Given the description of an element on the screen output the (x, y) to click on. 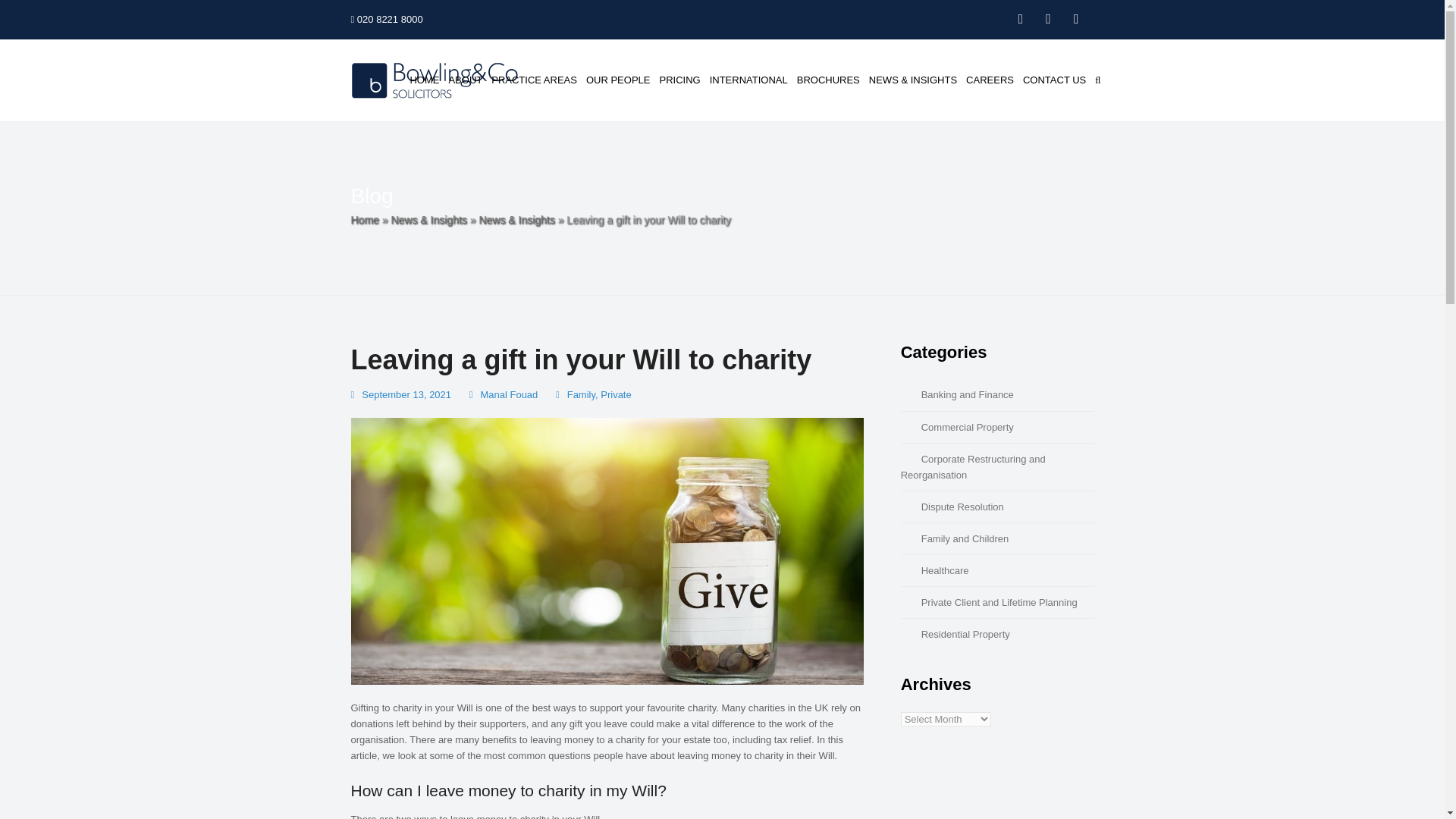
CONTACT US (1053, 80)
PRICING (678, 80)
PRACTICE AREAS (533, 80)
CAREERS (988, 80)
OUR PEOPLE (617, 80)
020 8221 8000 (386, 19)
HOME (424, 80)
INTERNATIONAL (748, 80)
ABOUT (465, 80)
BROCHURES (828, 80)
